Given the description of an element on the screen output the (x, y) to click on. 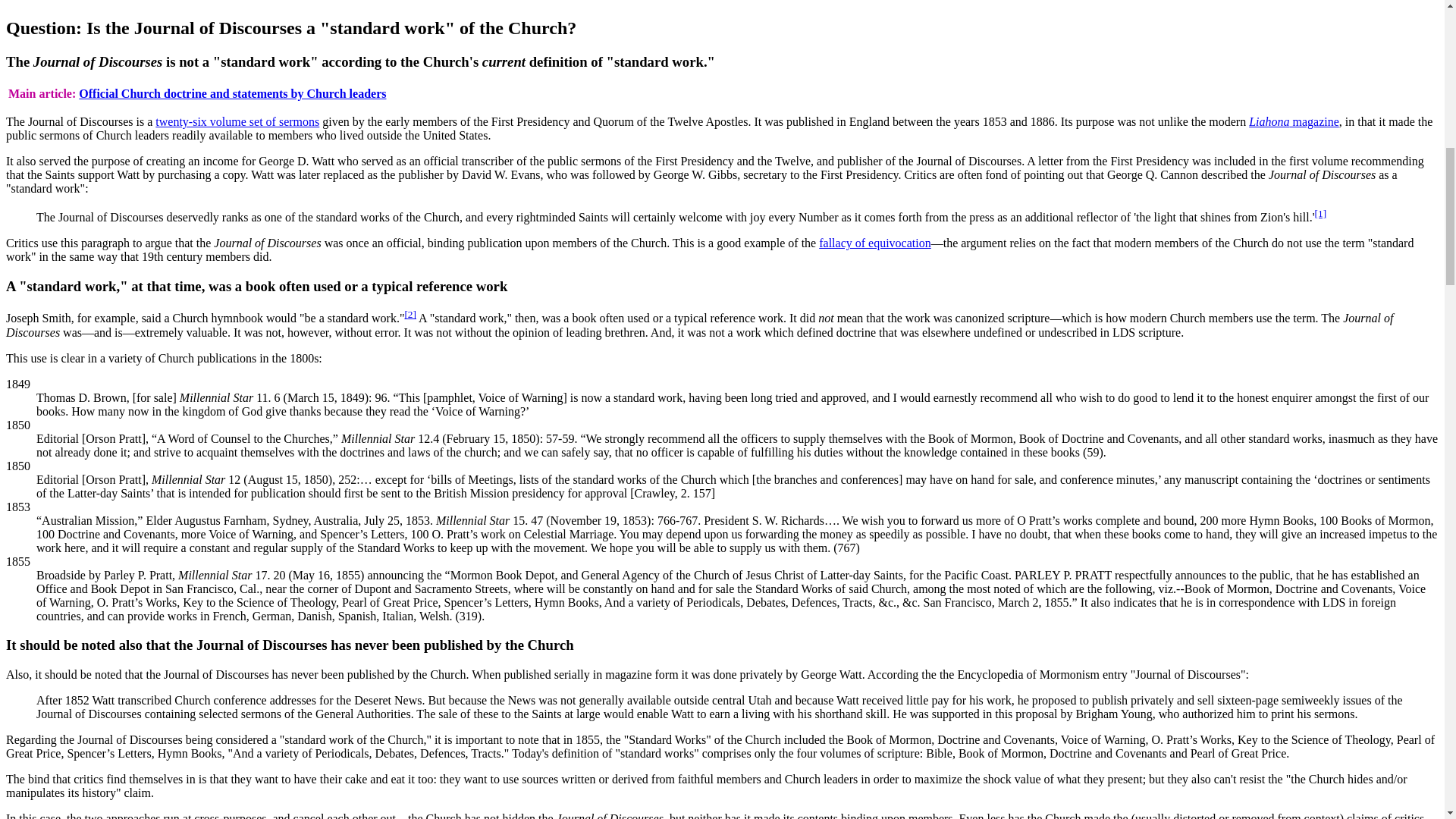
Official Church doctrine and statements by Church leaders (231, 92)
Journal of Discourses (236, 121)
Official Church doctrine and statements by Church leaders (231, 92)
Logical fallacies (874, 242)
fallacy of equivocation (874, 242)
twenty-six volume set of sermons (236, 121)
Liahona magazine (1294, 121)
